Given the description of an element on the screen output the (x, y) to click on. 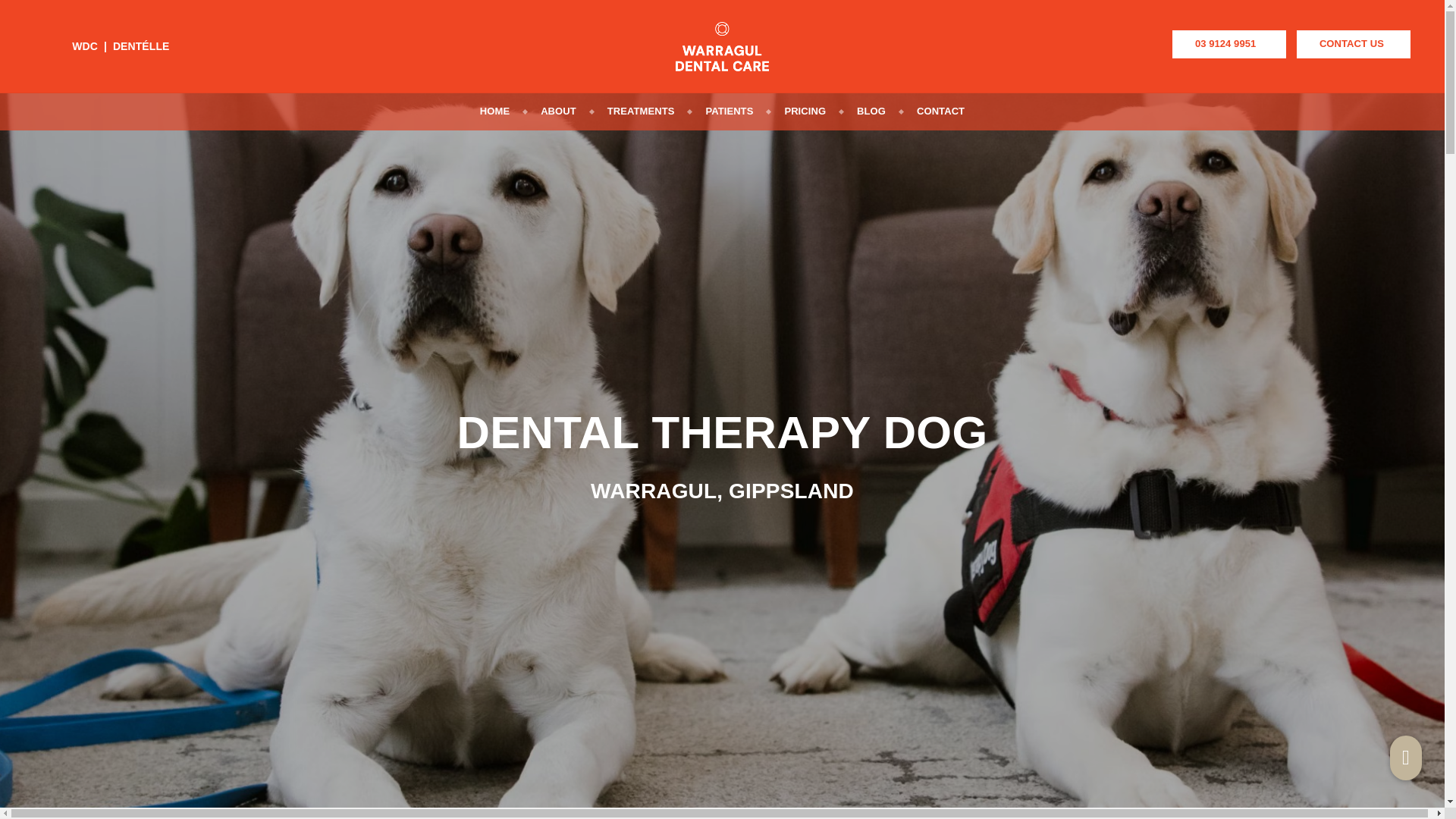
ABOUT (558, 114)
TREATMENTS (641, 114)
Warragul-dental-care-gippsland-logo (721, 46)
HOME (494, 114)
WDC (84, 46)
